Given the description of an element on the screen output the (x, y) to click on. 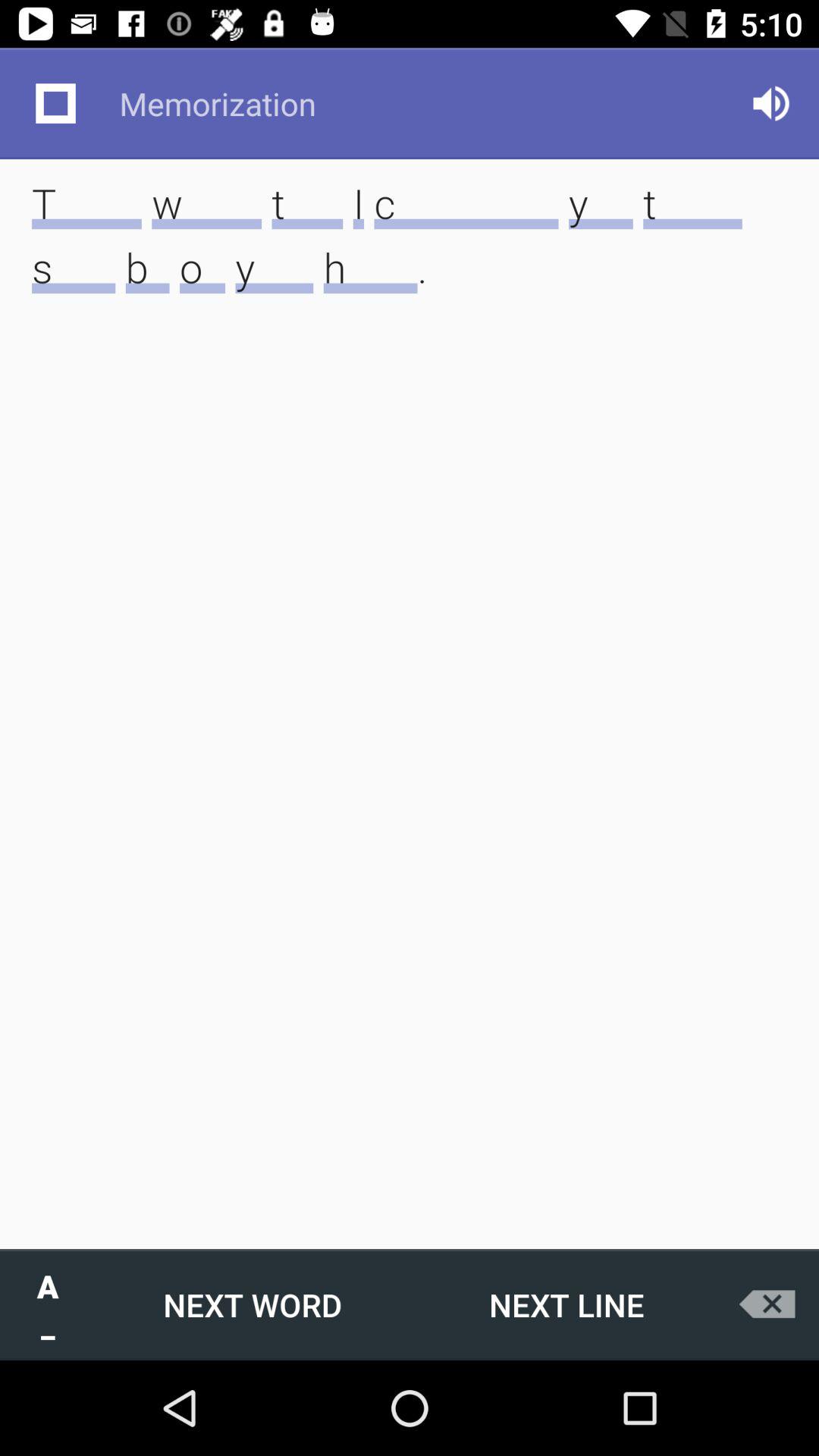
tap the item to the left of next line item (252, 1304)
